Given the description of an element on the screen output the (x, y) to click on. 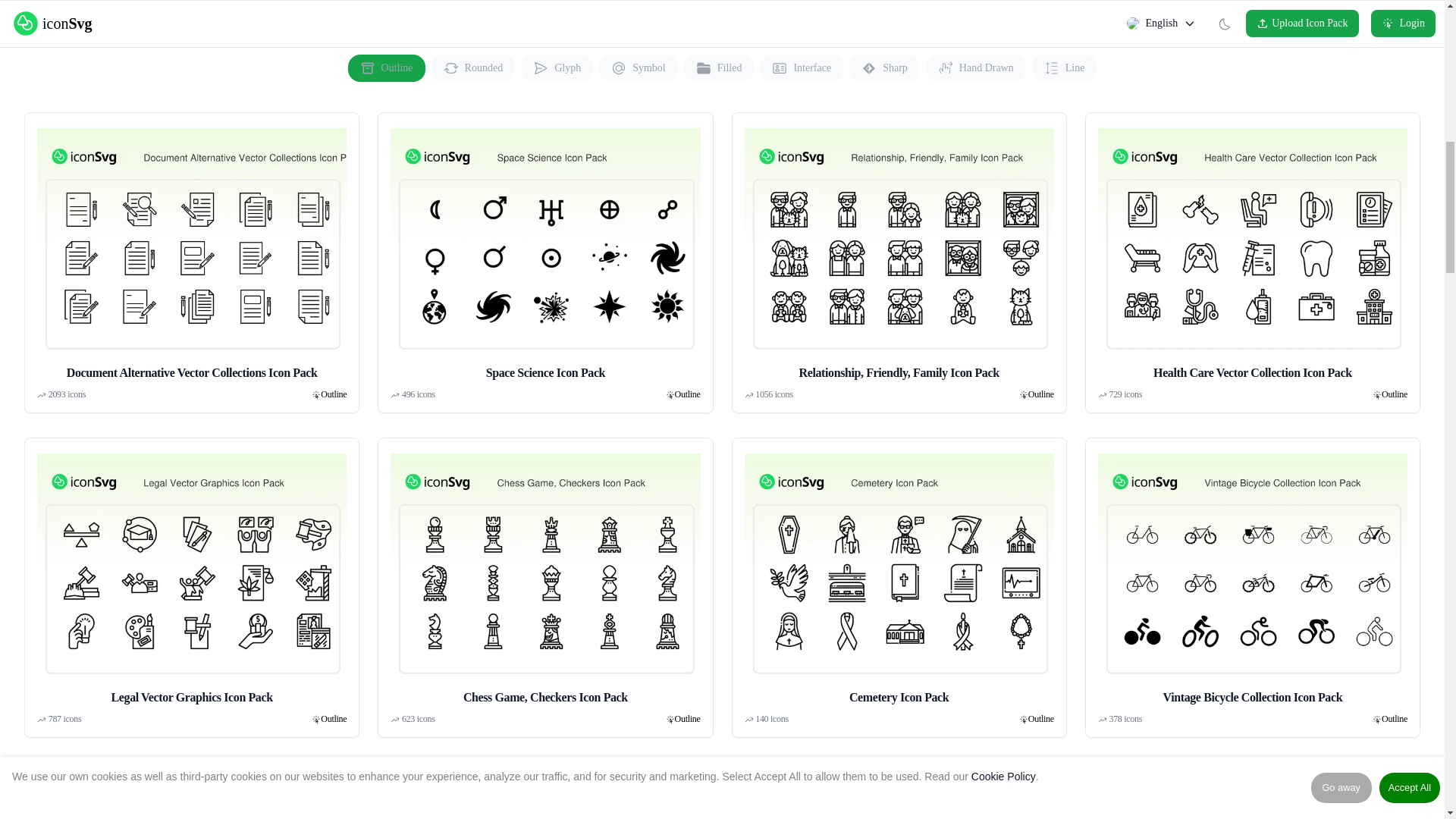
Relationship, Friendly, Family Icon Pack (899, 253)
Legal Vector Graphics Icon Pack (191, 578)
Space Science Icon Pack (545, 253)
Glyph (556, 67)
Relationship, Friendly, Family Icon Pack (899, 253)
Rounded (472, 67)
Outline Icon Style (333, 394)
Outline (687, 394)
Interface (801, 67)
Outline (1394, 394)
Outline Icon Style (687, 394)
Filled (719, 67)
Document Alternative Vector Collections Icon Pack (191, 253)
Health Care Vector Collection Icon Pack (1252, 253)
Sharp (884, 67)
